Given the description of an element on the screen output the (x, y) to click on. 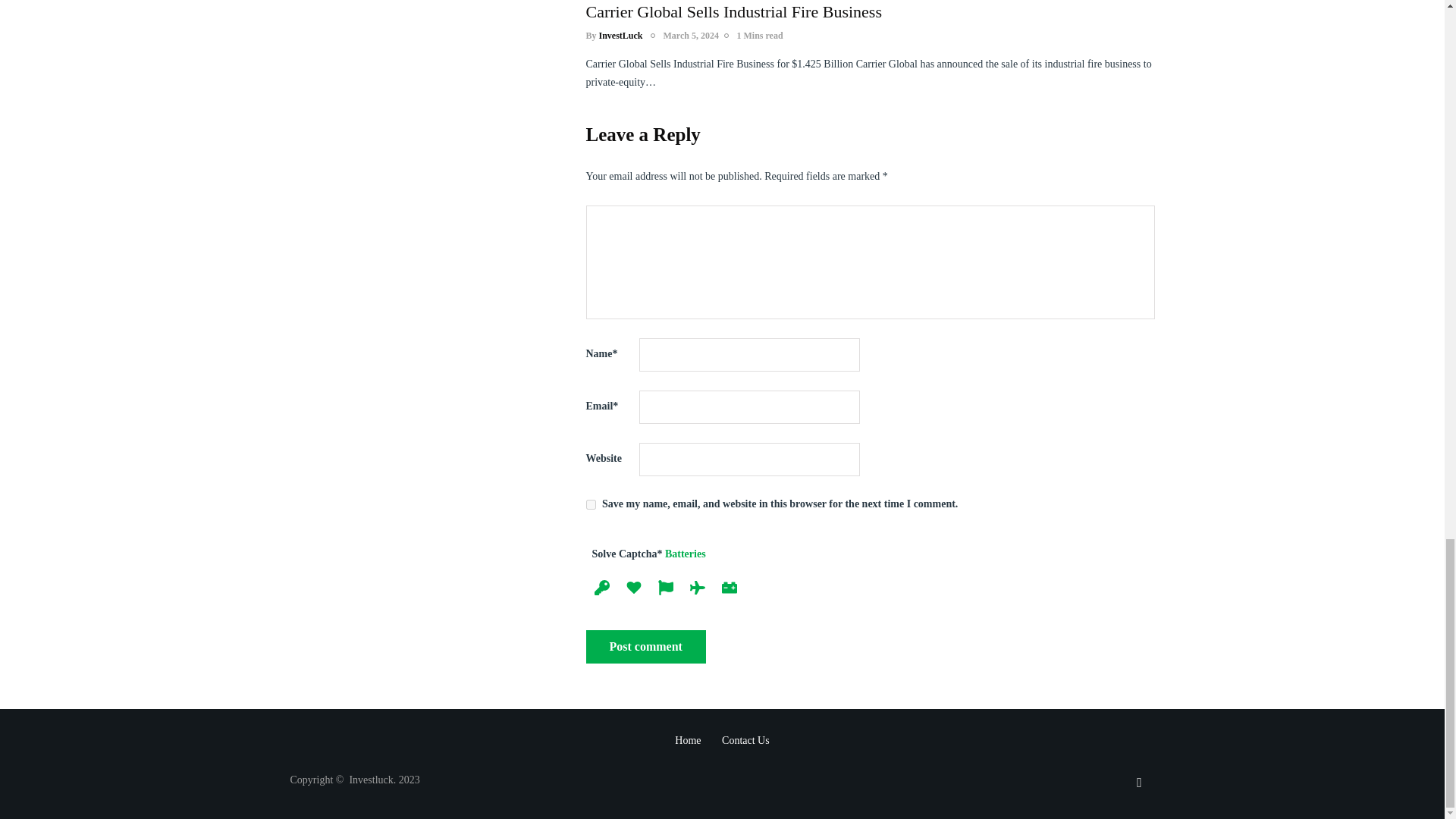
Post comment (644, 646)
yes (590, 504)
